Given the description of an element on the screen output the (x, y) to click on. 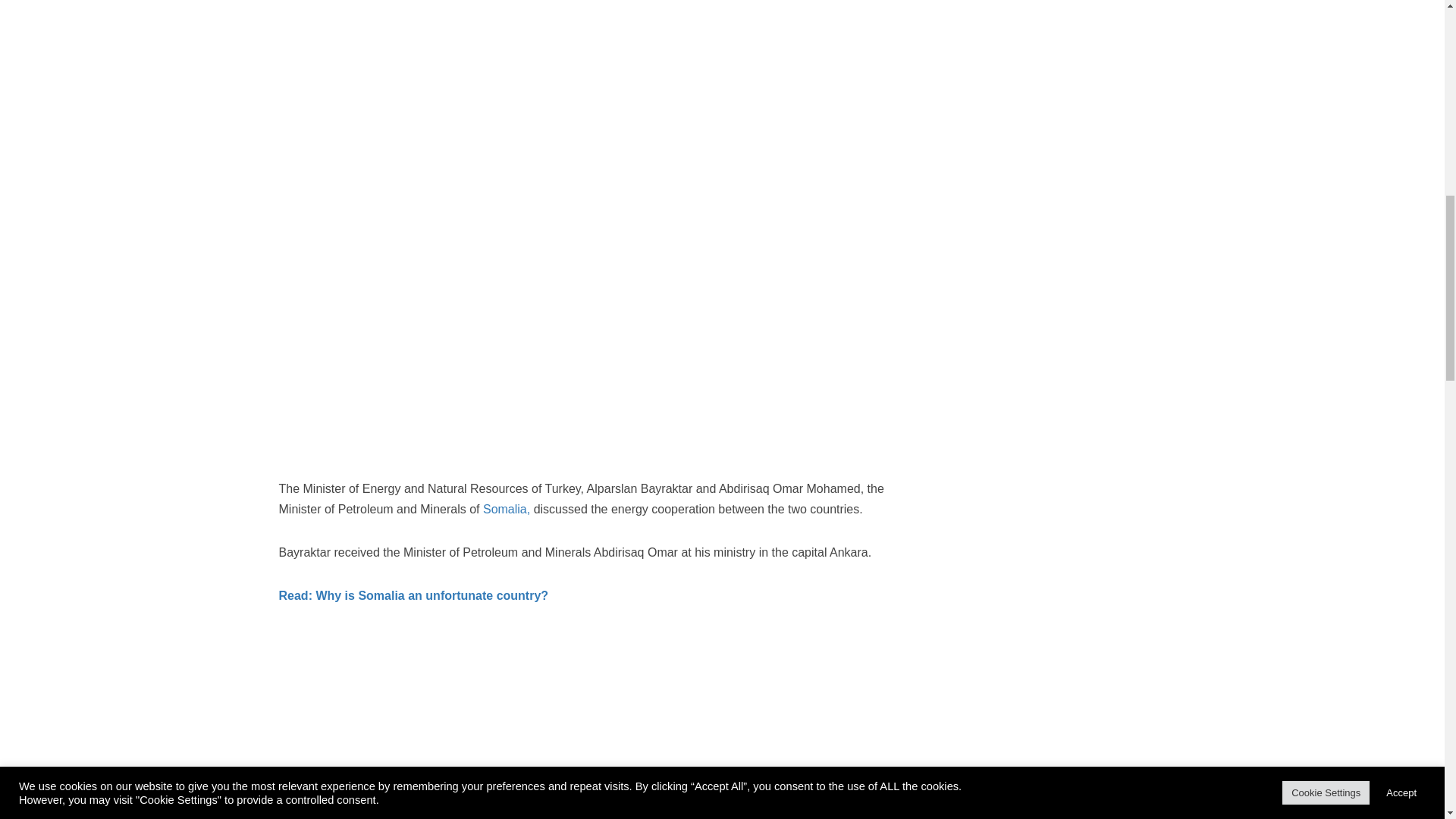
Advertisement (1052, 484)
Advertisement (1052, 63)
